Given the description of an element on the screen output the (x, y) to click on. 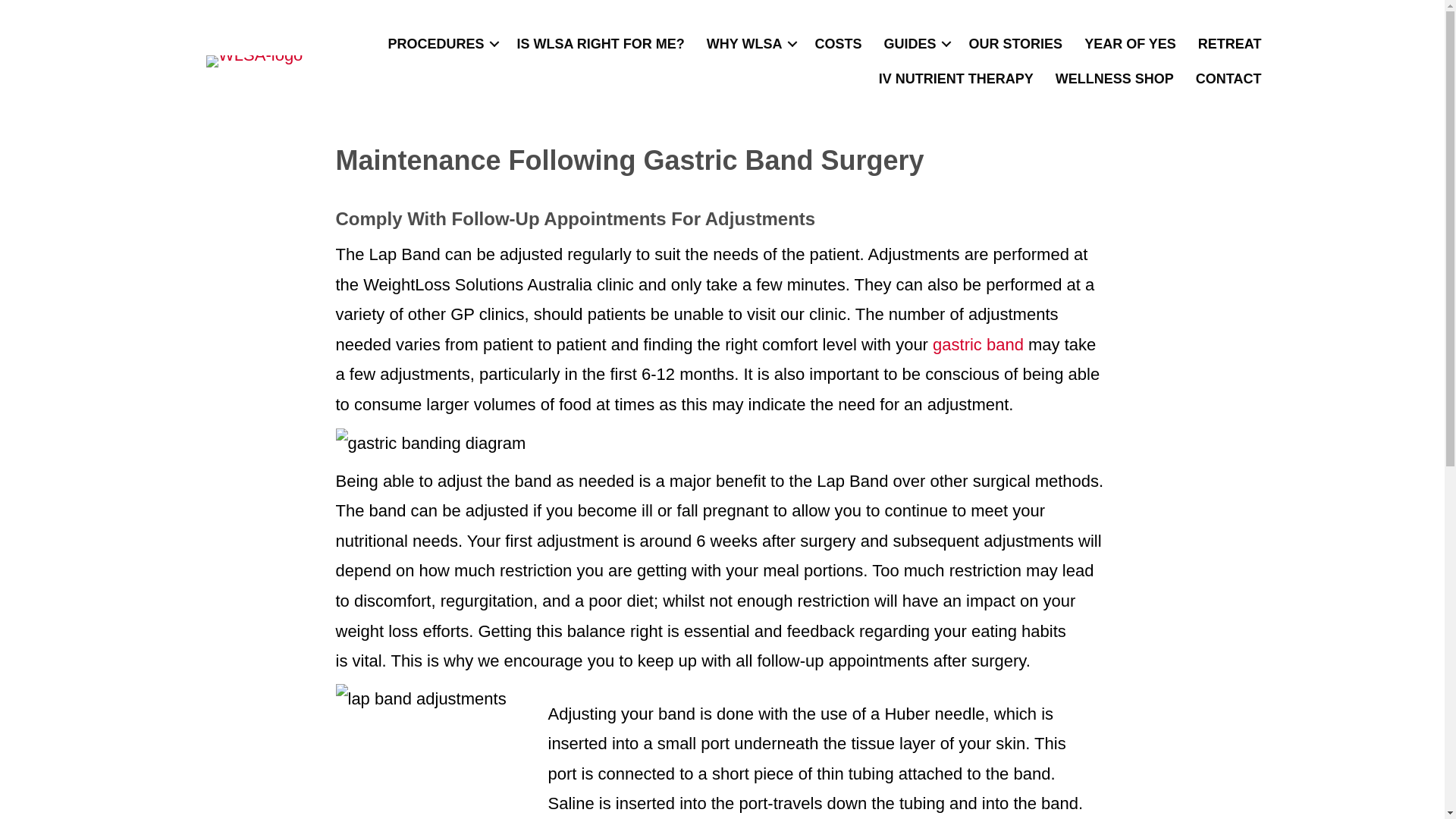
IV NUTRIENT THERAPY (955, 78)
COSTS (837, 43)
PROCEDURES (441, 43)
WHY WLSA (749, 43)
gastric band (978, 343)
YEAR OF YES (1130, 43)
IS WLSA RIGHT FOR ME? (599, 43)
WELLNESS SHOP (1115, 78)
OUR STORIES (1015, 43)
WLSA-logo-FA-Logo-Only (254, 61)
GUIDES (914, 43)
RETREAT (1230, 43)
CONTACT (1228, 78)
